Given the description of an element on the screen output the (x, y) to click on. 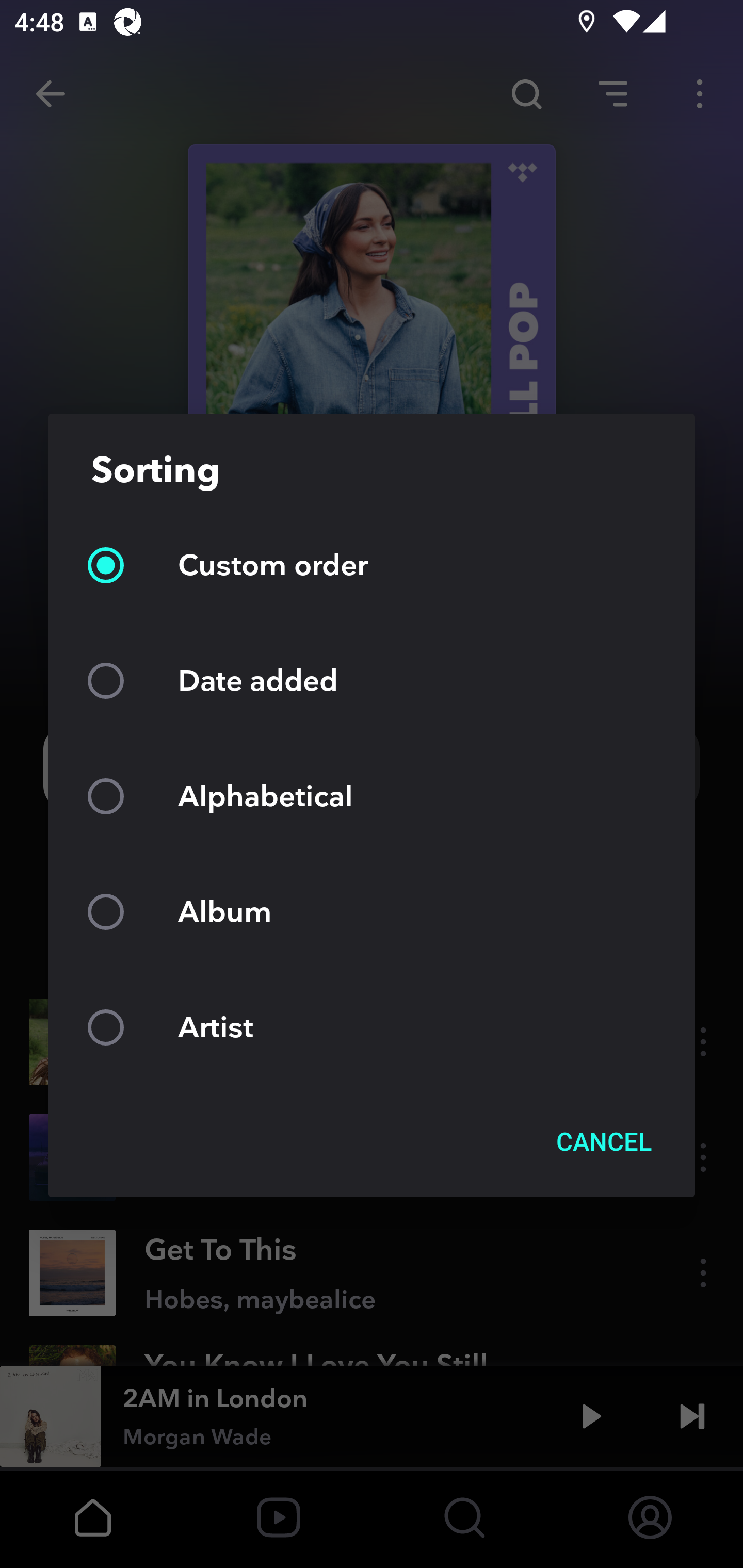
Custom order (371, 565)
Date added (371, 680)
Alphabetical (371, 796)
Album (371, 911)
Artist (371, 1027)
CANCEL (603, 1141)
